Given the description of an element on the screen output the (x, y) to click on. 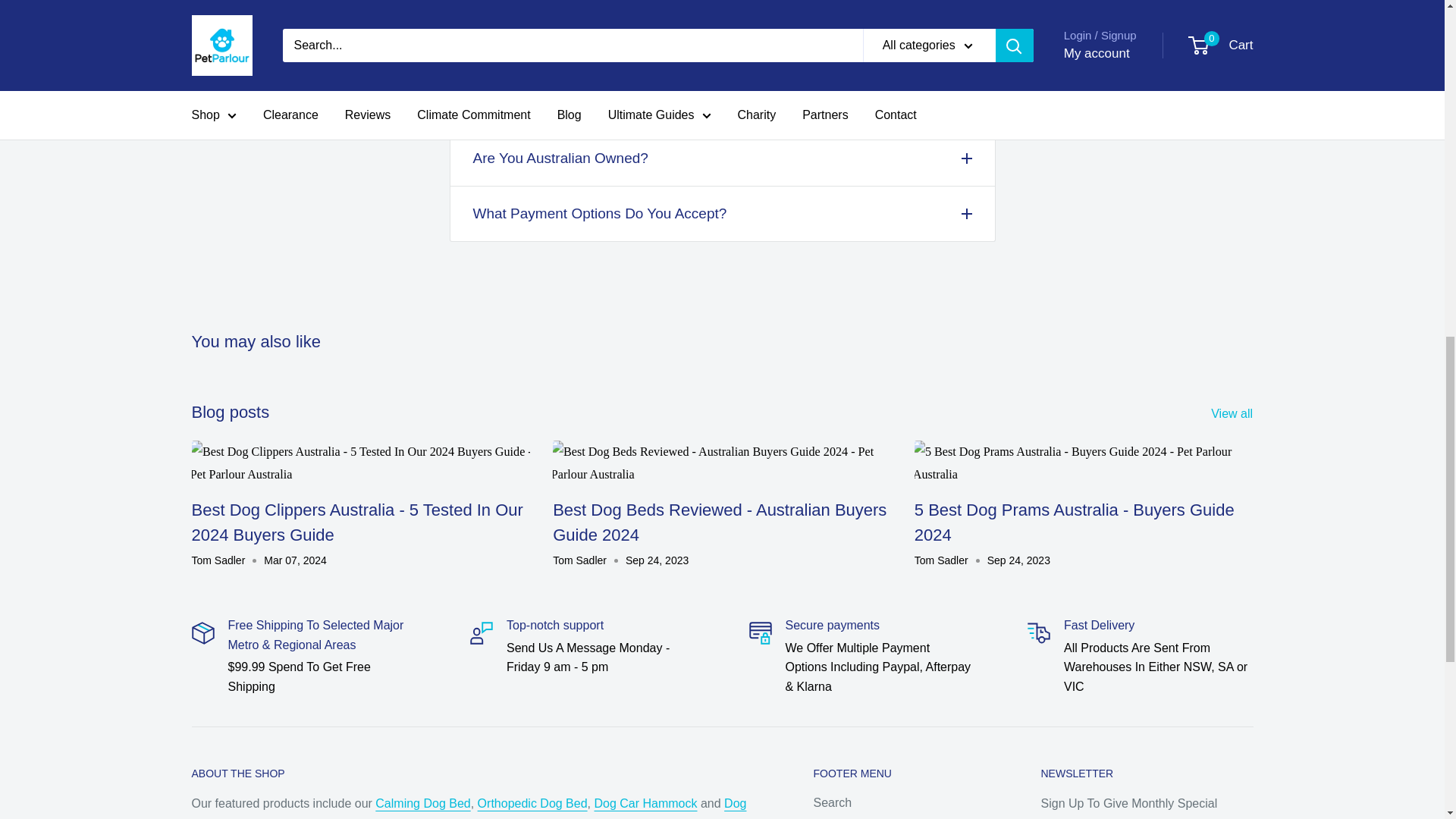
Dog Car Hammock (645, 802)
Dog Hair Clippers (467, 807)
Calming Dog Bed (422, 802)
Orthopedic Dog Bed (532, 802)
